Given the description of an element on the screen output the (x, y) to click on. 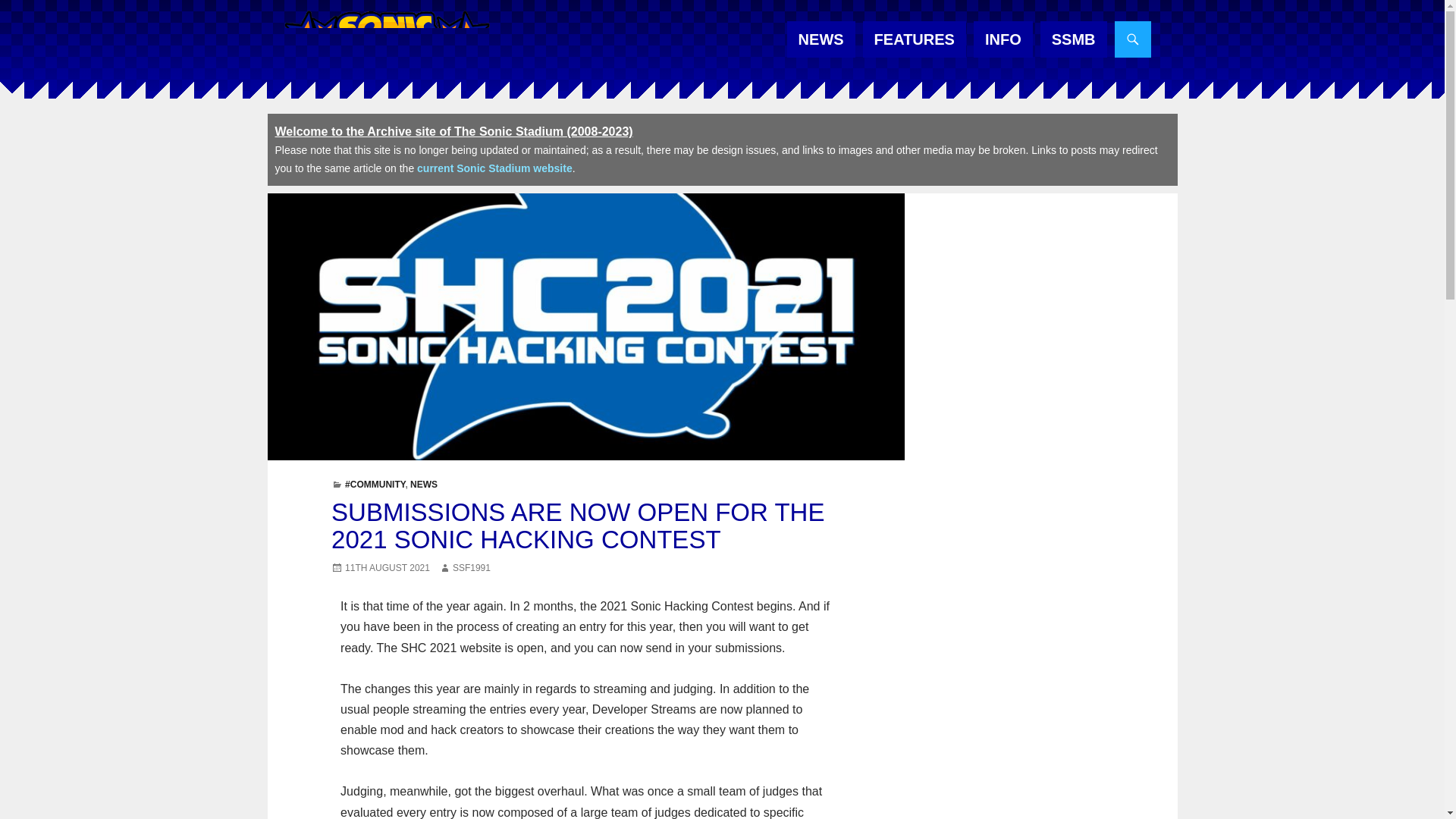
NEWS (821, 39)
SSMB (1073, 39)
Go back to the HOME Page... (385, 40)
FEATURES (914, 39)
INFO (1003, 39)
